Given the description of an element on the screen output the (x, y) to click on. 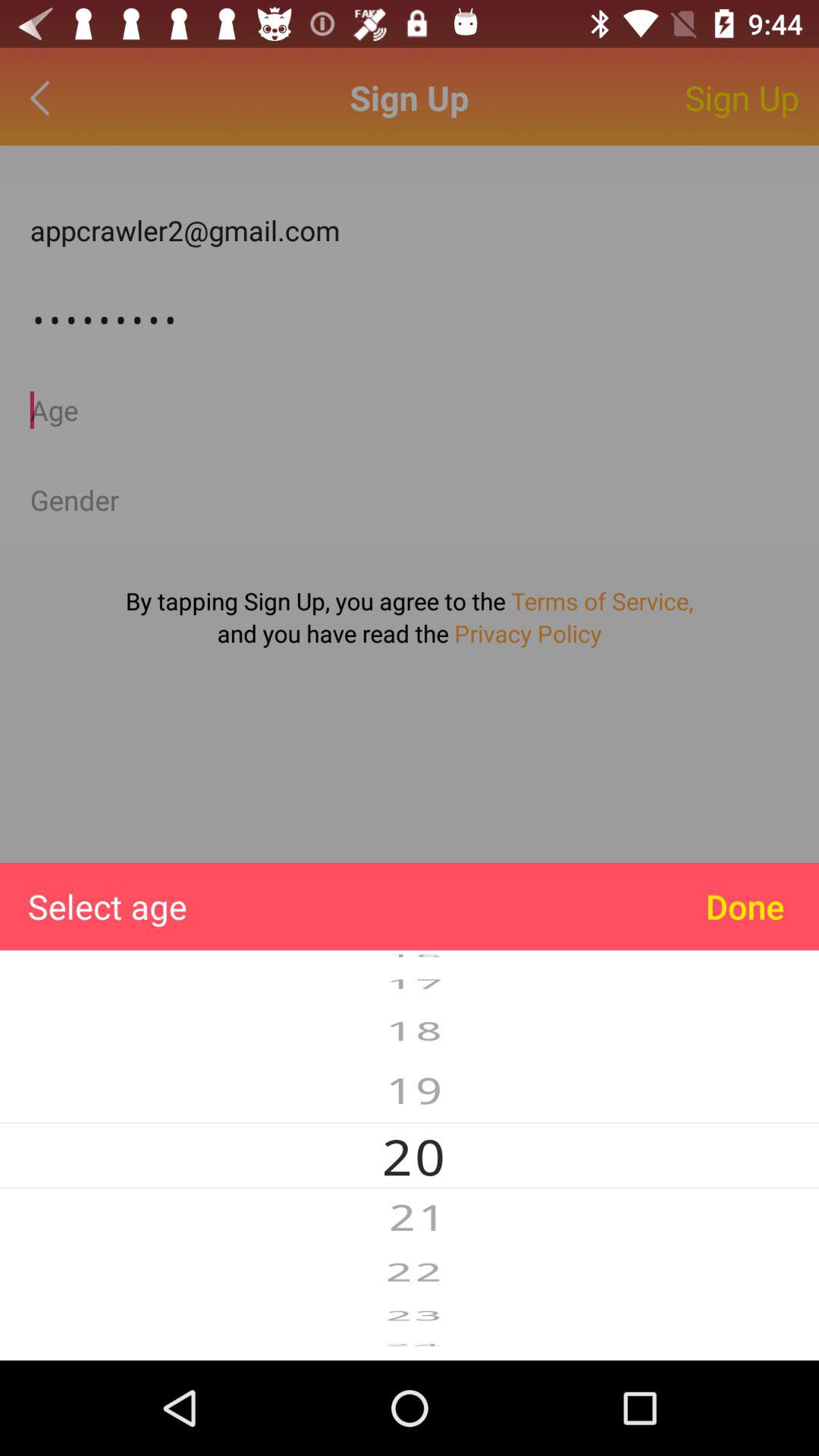
select age (409, 410)
